Given the description of an element on the screen output the (x, y) to click on. 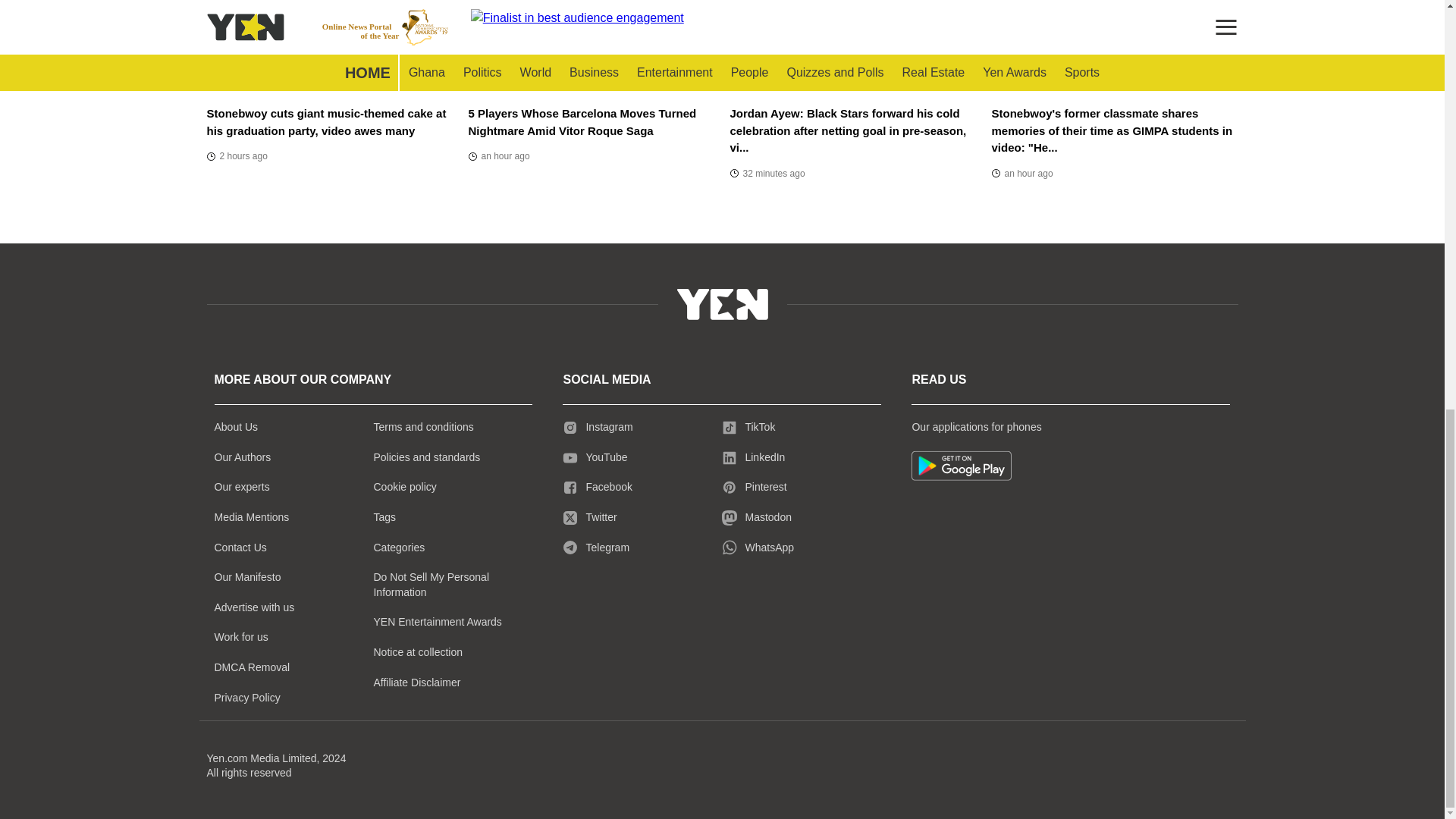
2024-07-27T15:12:50Z (767, 173)
2024-07-27T14:45:36Z (1021, 173)
2024-07-27T13:38:03Z (236, 156)
2024-07-27T13:47:28Z (498, 156)
